Given the description of an element on the screen output the (x, y) to click on. 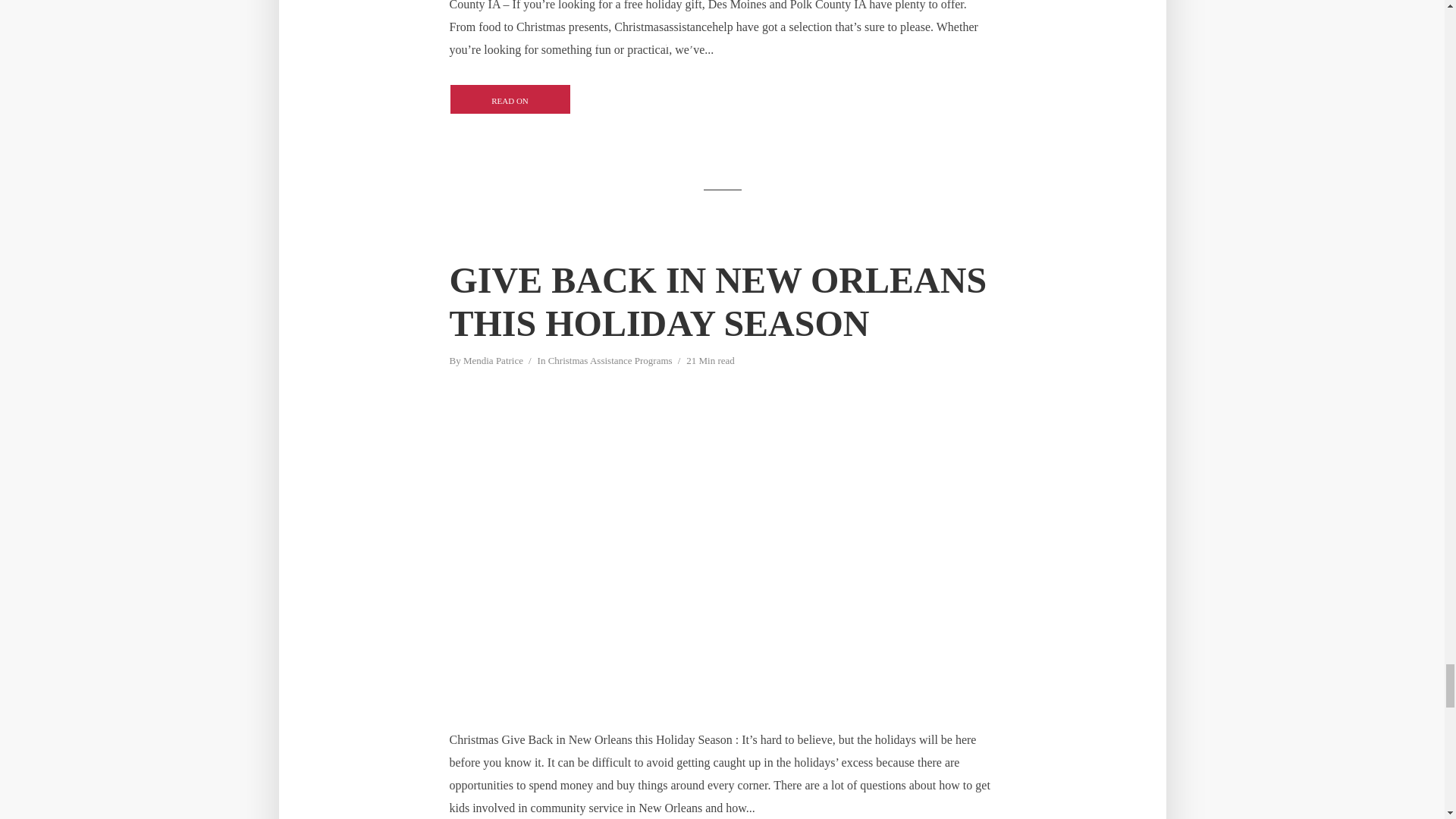
GIVE BACK IN NEW ORLEANS THIS HOLIDAY SEASON (721, 301)
READ ON (509, 99)
Mendia Patrice (492, 361)
Christmas Assistance Programs (610, 361)
